Given the description of an element on the screen output the (x, y) to click on. 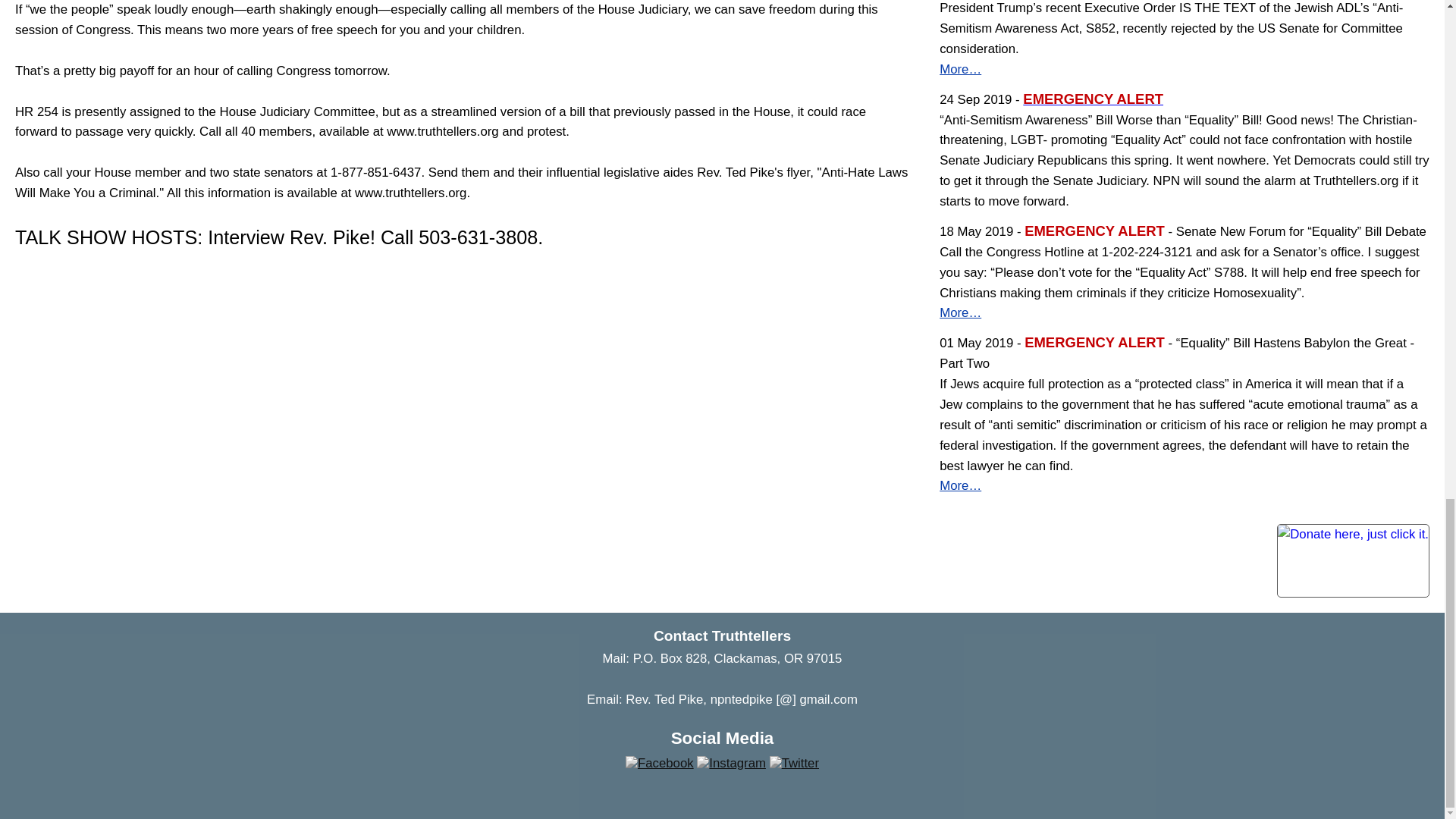
Click here to read the article. (960, 485)
Click here to read the article. (960, 312)
Click here to read the article. (960, 69)
See our instagram photos. (731, 762)
Read the full article in PDF format. (1093, 99)
See our facebook page. (660, 762)
EMERGENCY ALERT (1093, 99)
See our tweets. (794, 762)
